Given the description of an element on the screen output the (x, y) to click on. 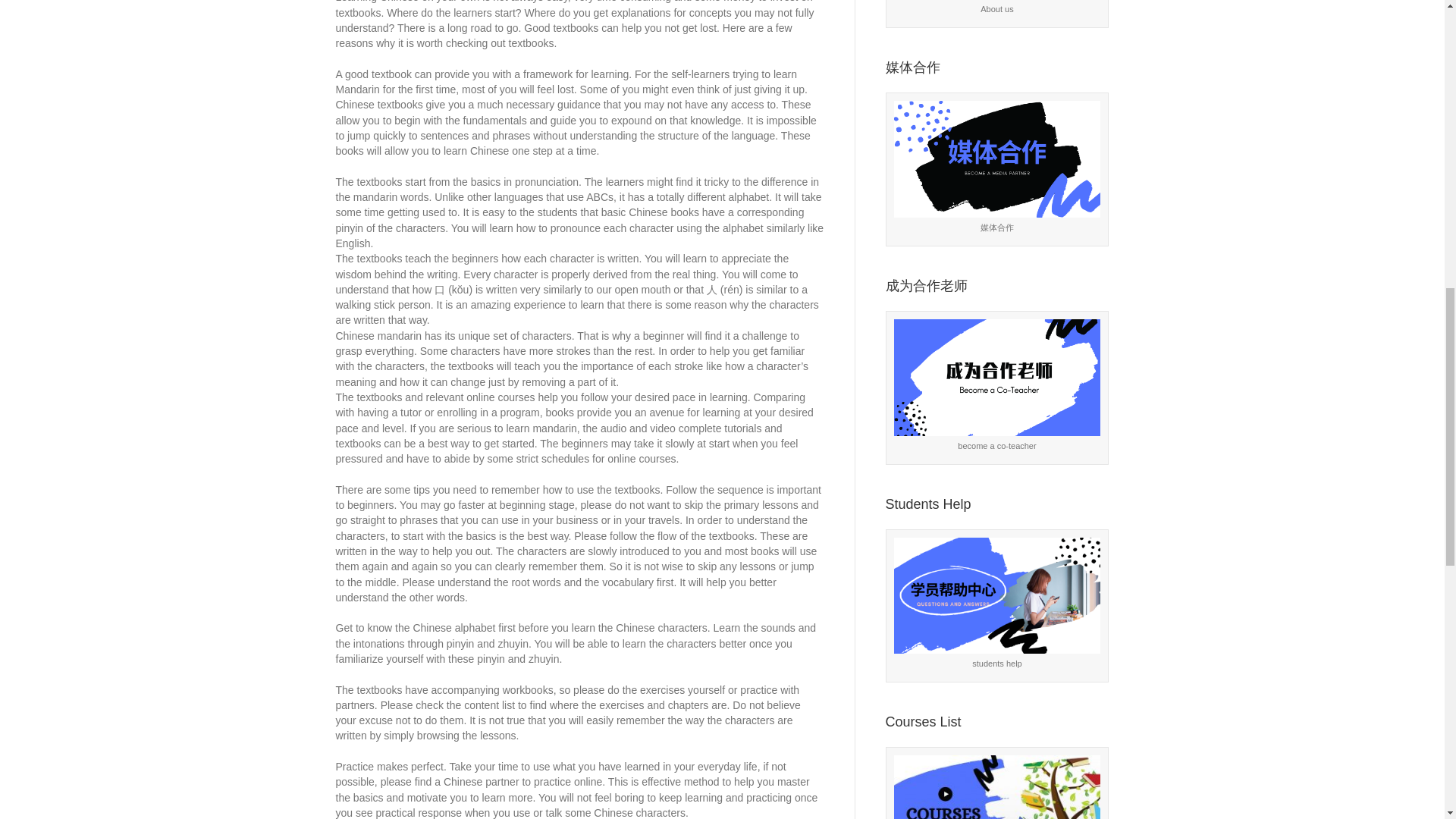
Courses List (996, 787)
Students Help (996, 595)
